Given the description of an element on the screen output the (x, y) to click on. 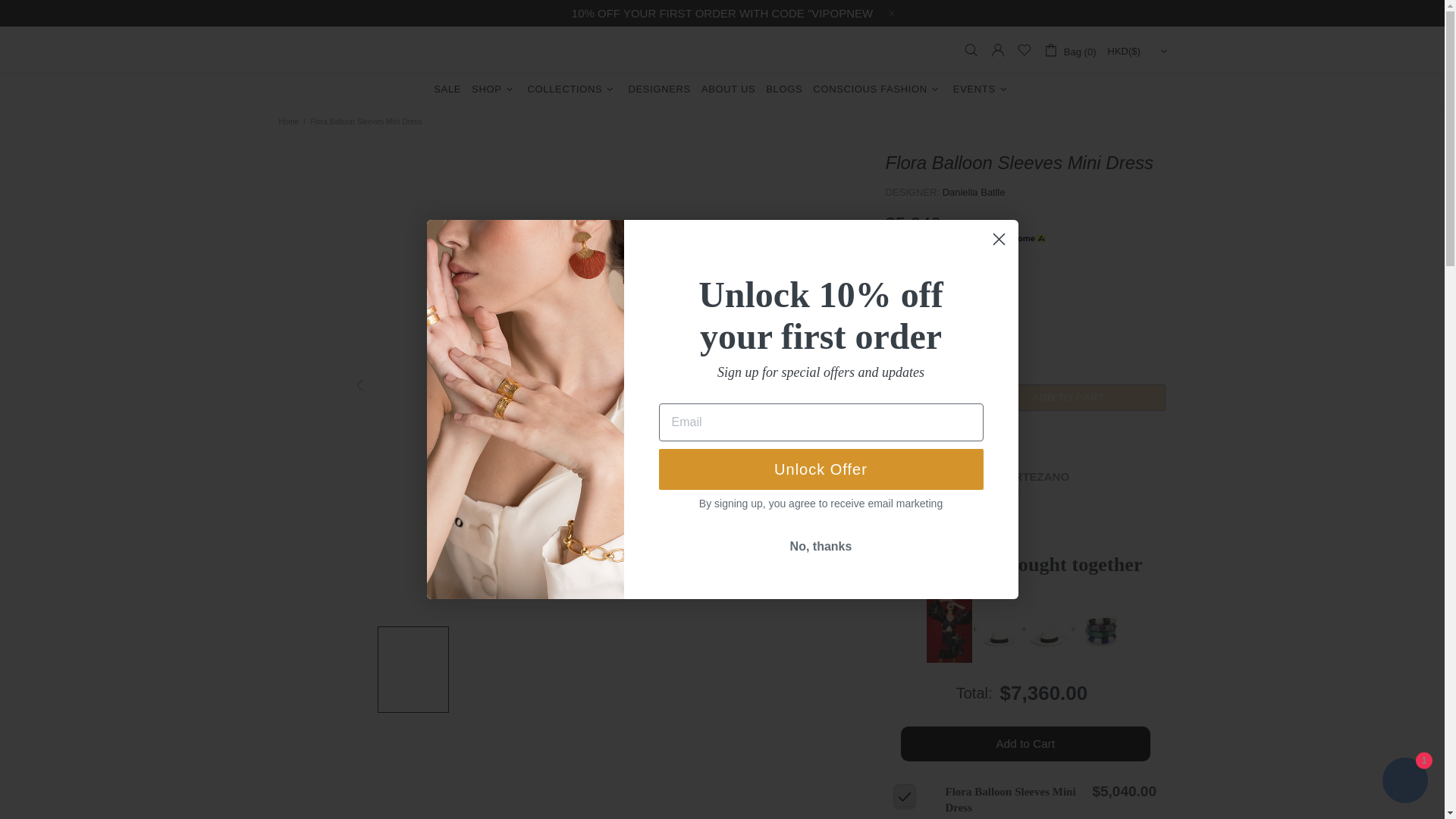
SHOP (493, 89)
1 (923, 397)
SALE (446, 89)
Shopify online store chat (1404, 781)
VIPOP (721, 49)
